Given the description of an element on the screen output the (x, y) to click on. 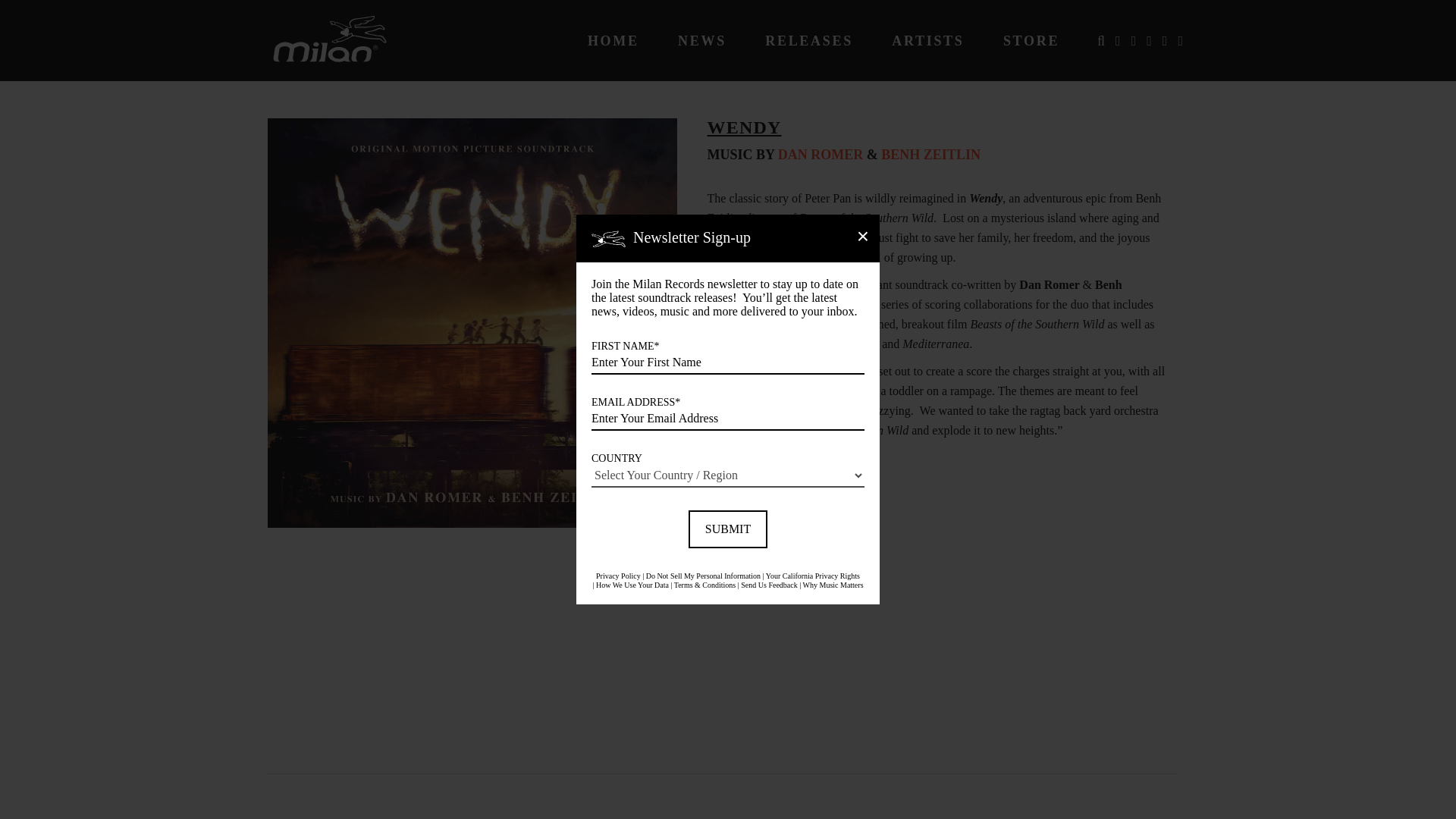
DAN ROMER (820, 154)
Do Not Sell My Personal Information (703, 575)
RELEASES (809, 40)
Send Us Feedback (768, 584)
Privacy Policy (617, 575)
SUBMIT (727, 528)
Your California Privacy Rights (812, 575)
STORE (1031, 40)
HOME (613, 40)
